Given the description of an element on the screen output the (x, y) to click on. 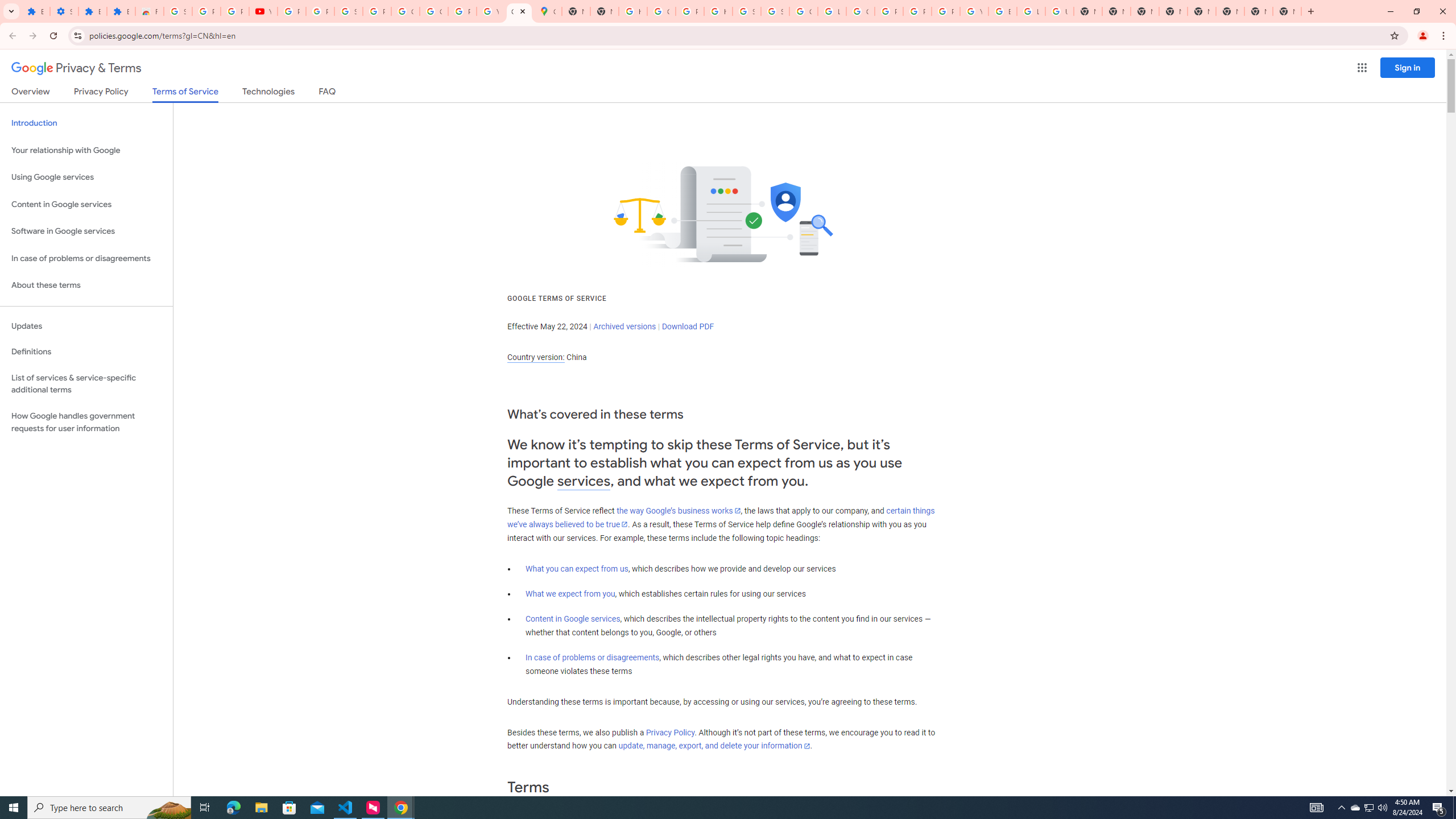
services (583, 480)
What we expect from you (570, 593)
What you can expect from us (576, 568)
Using Google services (86, 176)
